Given the description of an element on the screen output the (x, y) to click on. 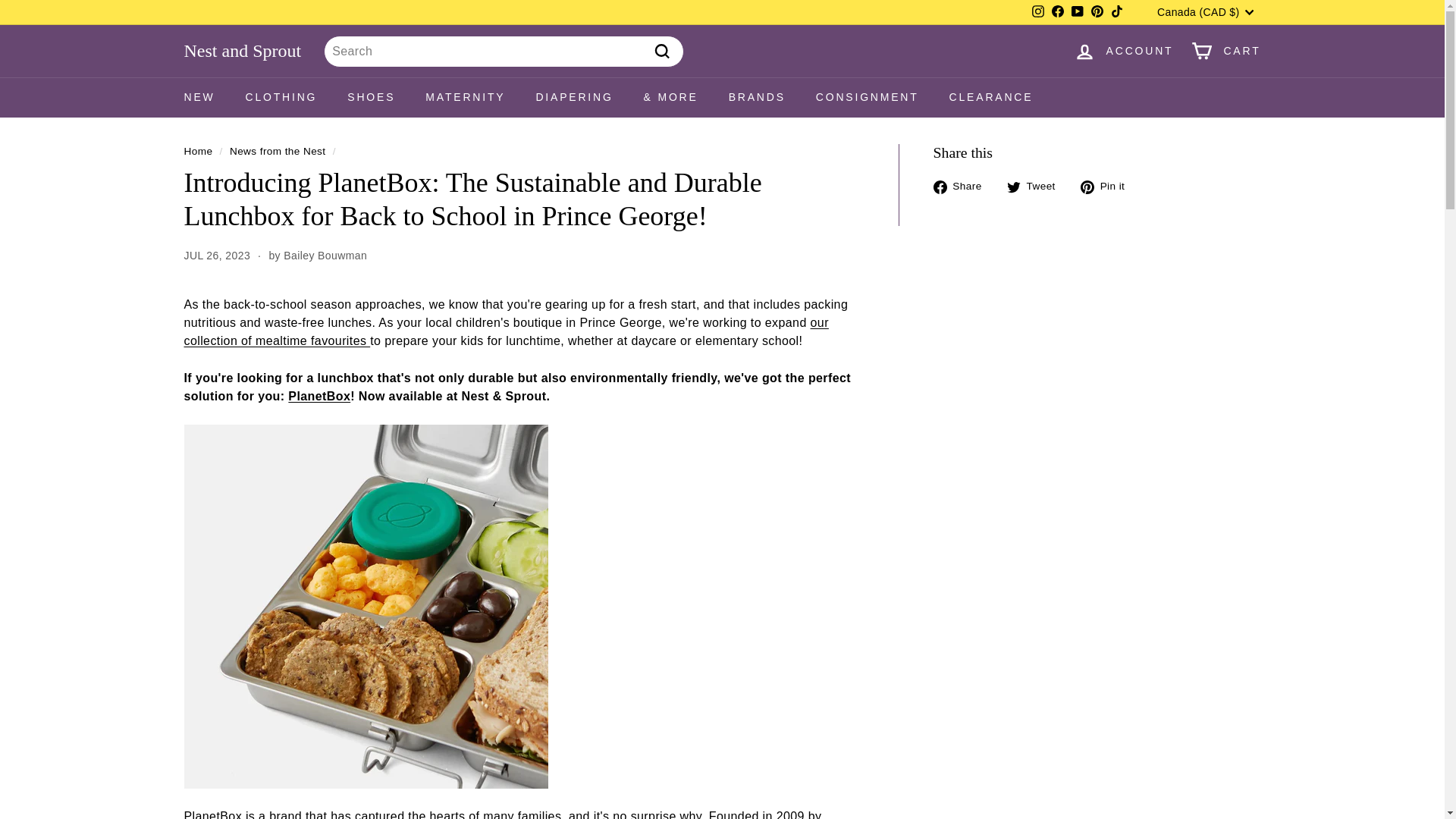
Share on Facebook (962, 186)
Tweet on Twitter (1037, 186)
Back to the frontpage (197, 151)
Pin on Pinterest (1107, 186)
shop mealtime at nest and sprout (505, 331)
Learn more about Planetbox (212, 814)
Shop Planetbox in Canada (319, 395)
